Given the description of an element on the screen output the (x, y) to click on. 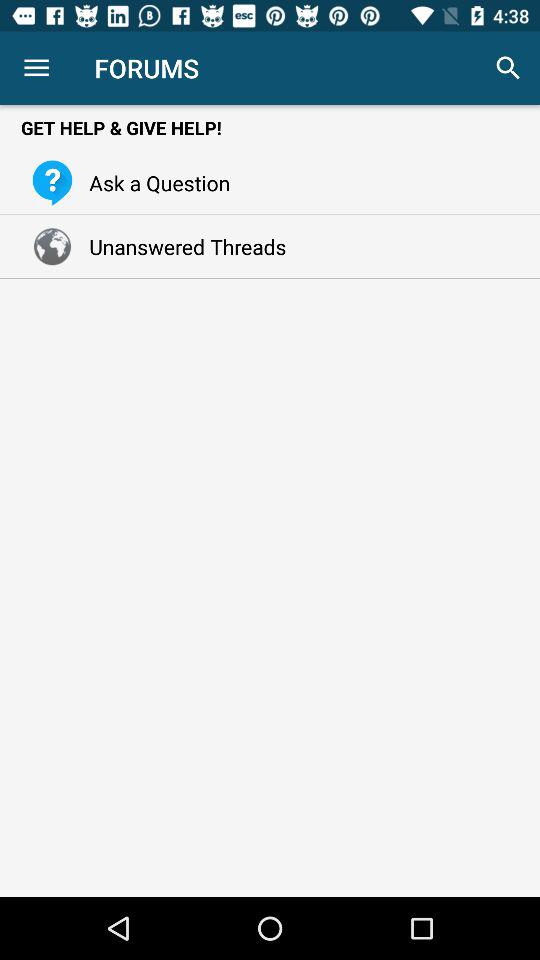
launch the icon at the top right corner (508, 67)
